Given the description of an element on the screen output the (x, y) to click on. 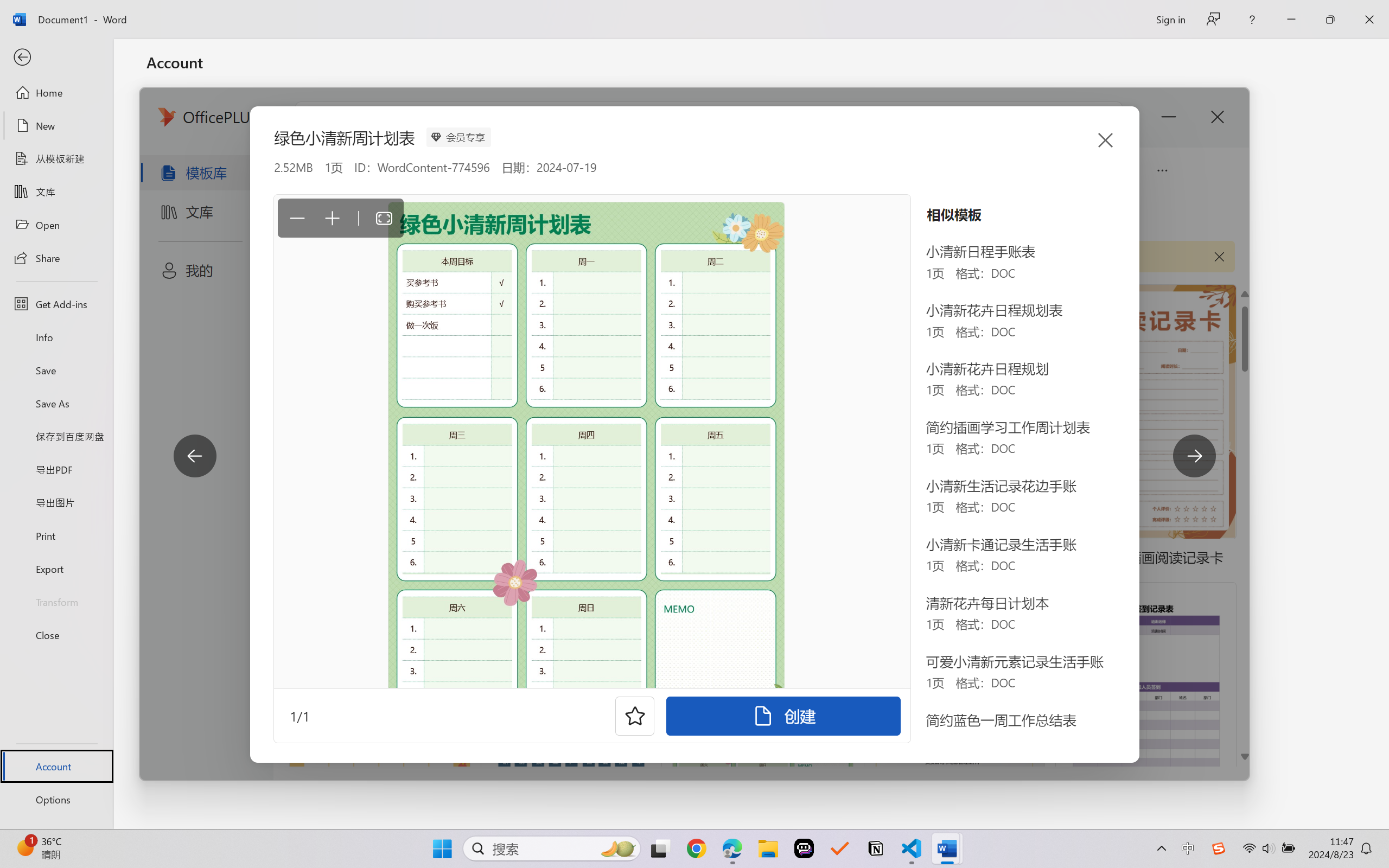
Office Theme (300, 164)
Options (56, 798)
Update Options (556, 327)
